Given the description of an element on the screen output the (x, y) to click on. 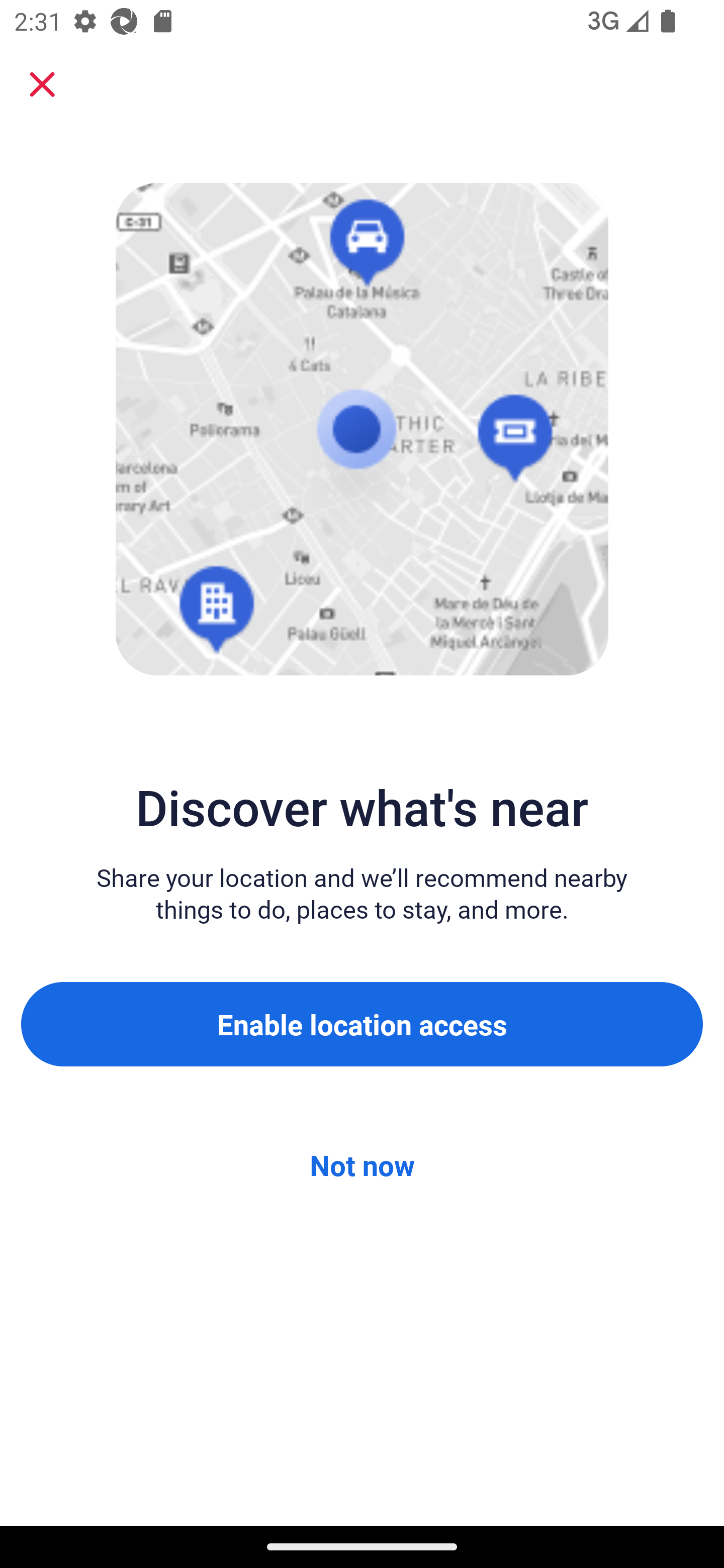
Close sheet (42, 84)
Enable location access (361, 1023)
Not now (362, 1164)
